Given the description of an element on the screen output the (x, y) to click on. 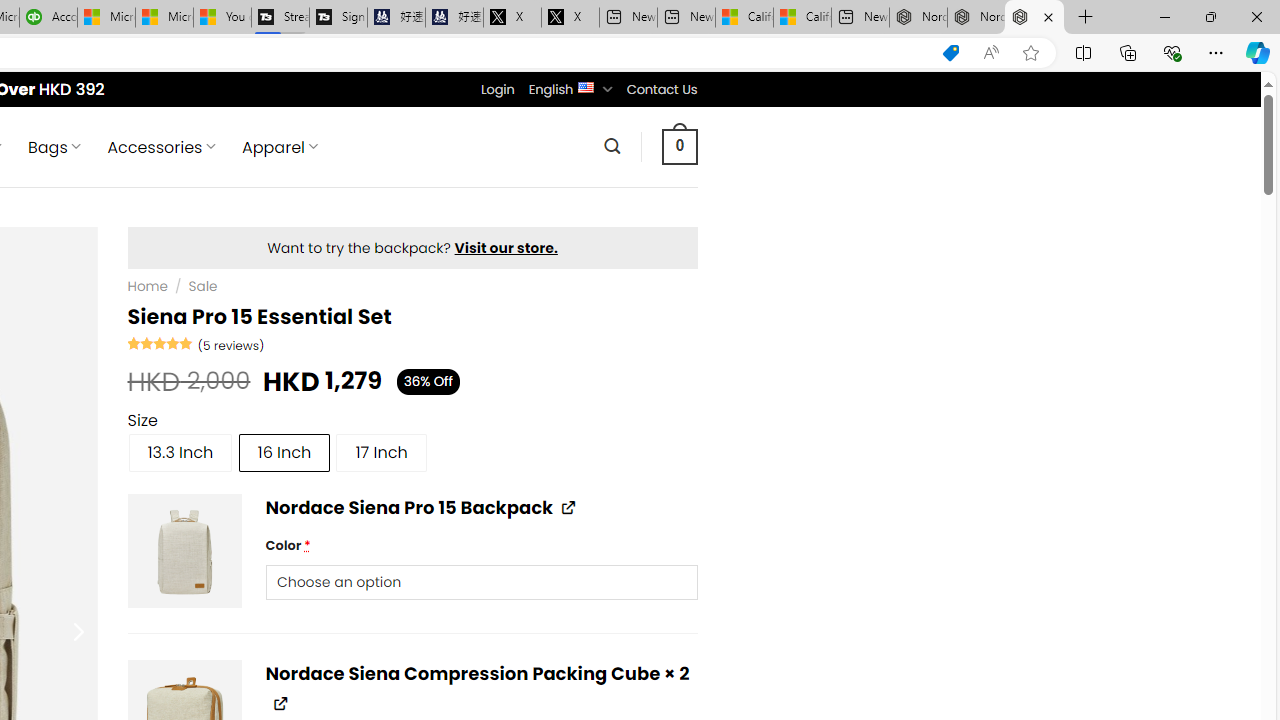
Accounting Software for Accountants, CPAs and Bookkeepers (48, 17)
Login (497, 89)
This site has coupons! Shopping in Microsoft Edge (950, 53)
